Given the description of an element on the screen output the (x, y) to click on. 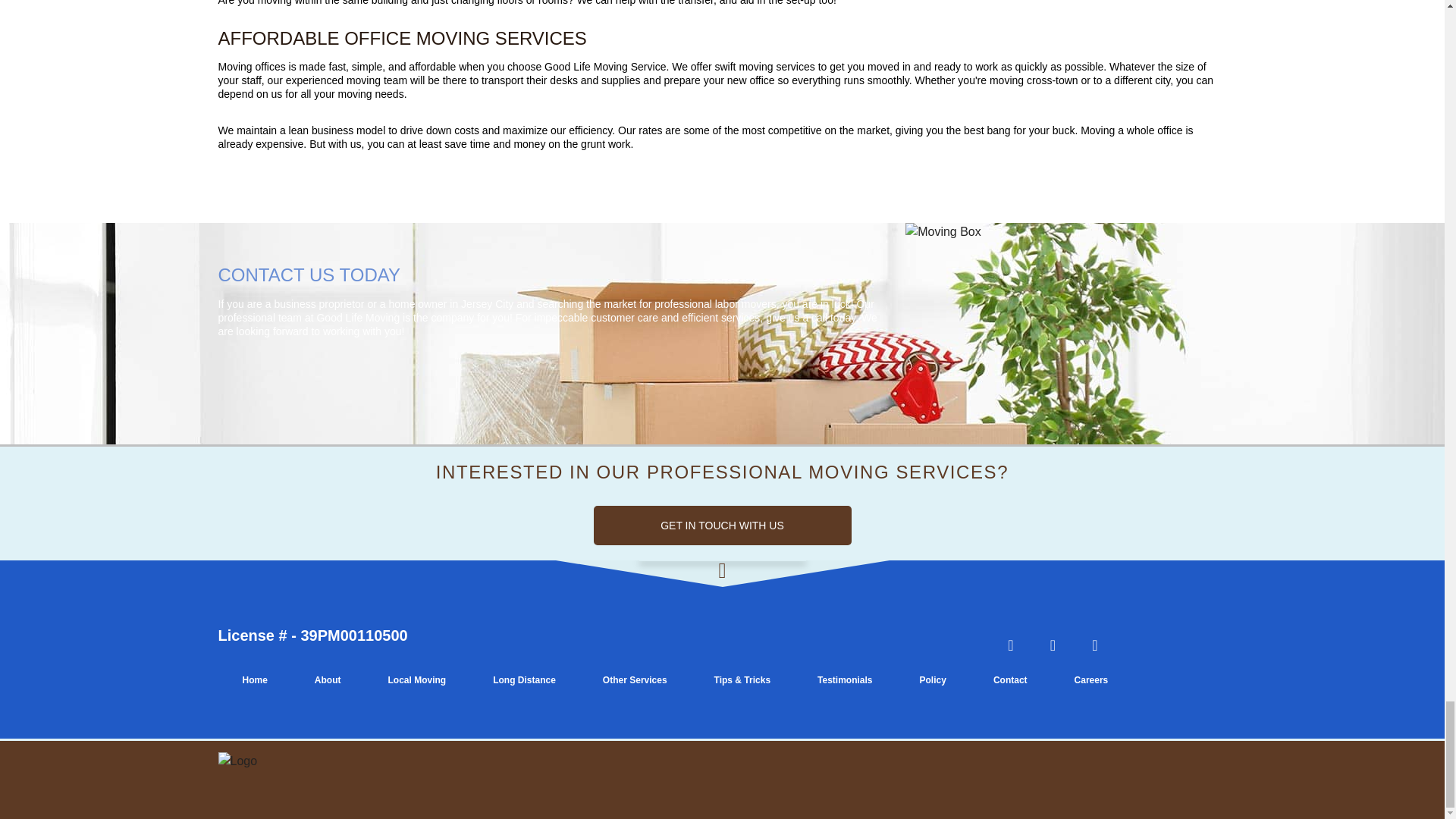
Good Life Moving Service Facebook (1052, 645)
Good Life Moving Service Yelp (1010, 645)
GET IN TOUCH WITH US (721, 525)
GET IN TOUCH WITH US (721, 525)
Good Life Moving Service Google My Business (1094, 645)
